Given the description of an element on the screen output the (x, y) to click on. 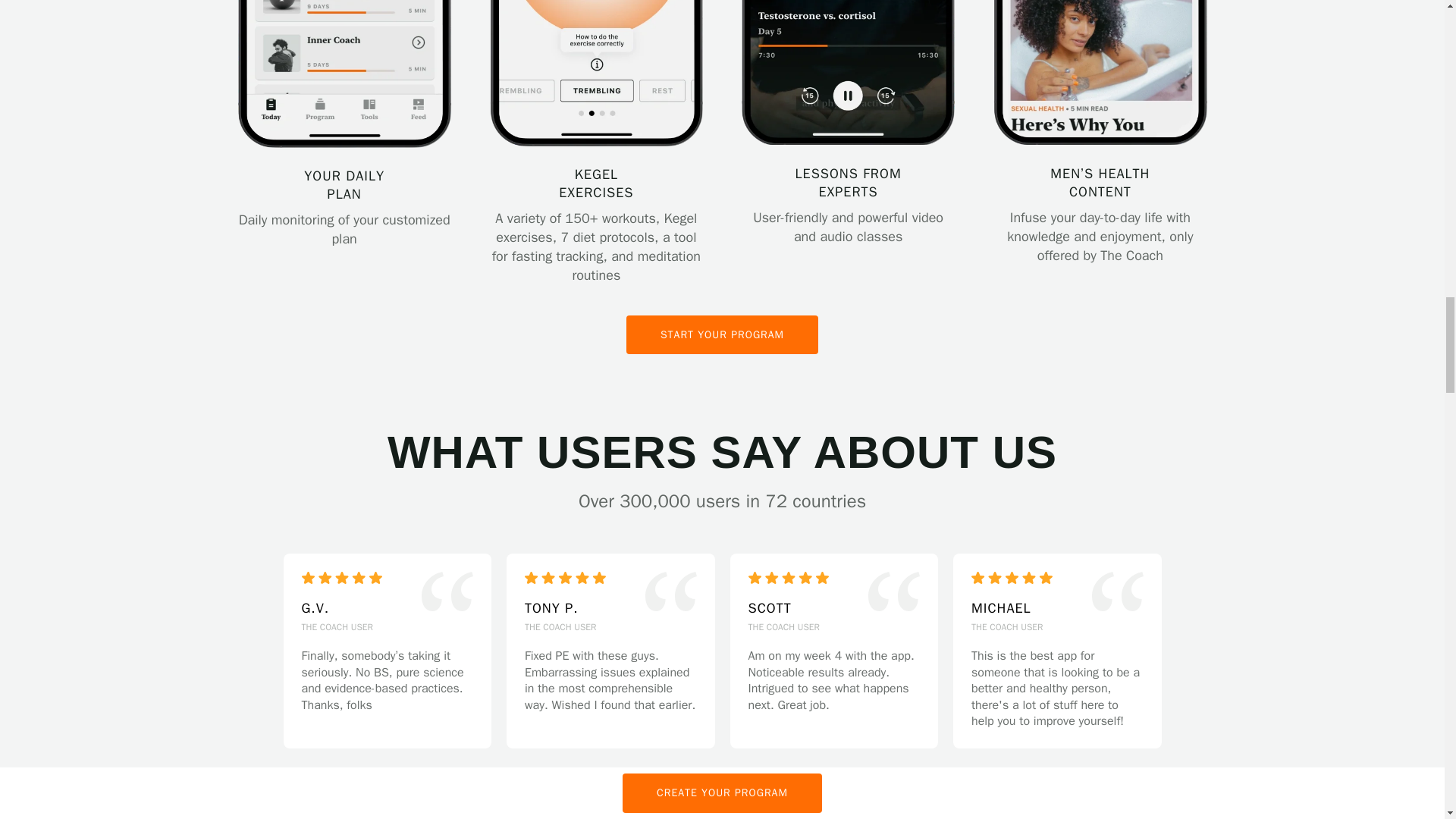
KEGEL EXERCISES (596, 74)
Lessons from experts (848, 74)
Daily Plan (343, 74)
Men's Health Content (1099, 75)
